Given the description of an element on the screen output the (x, y) to click on. 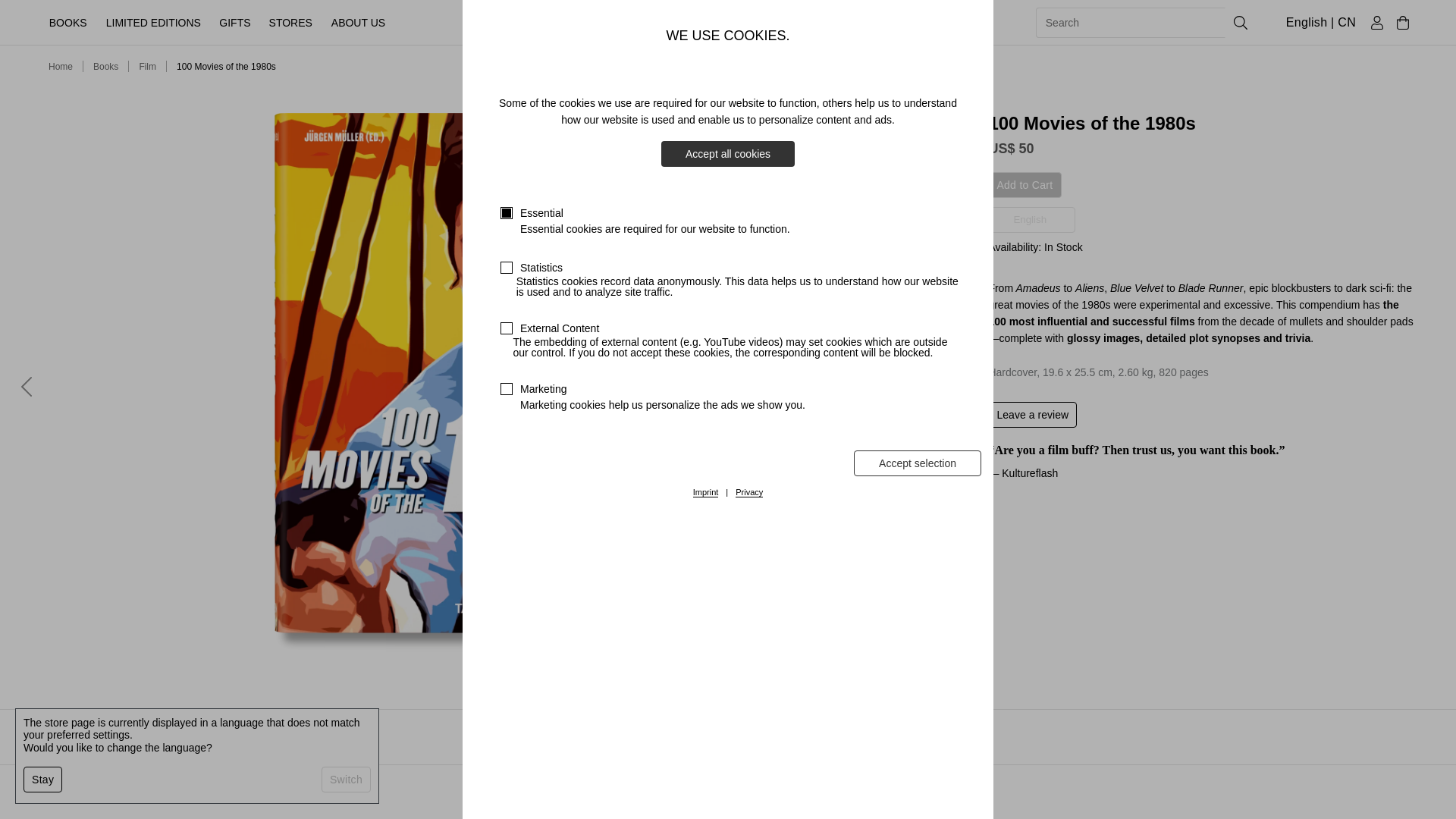
on (506, 213)
on (506, 328)
Accept selection (917, 462)
Books (105, 66)
Books (105, 66)
Add to Cart (1024, 184)
on (506, 267)
Accept all cookies (727, 153)
Leave a review (1032, 414)
ABOUT US (357, 22)
Home (60, 66)
STORES (291, 22)
on (506, 388)
Imprint (706, 492)
Please fill out this field. (1130, 22)
